Given the description of an element on the screen output the (x, y) to click on. 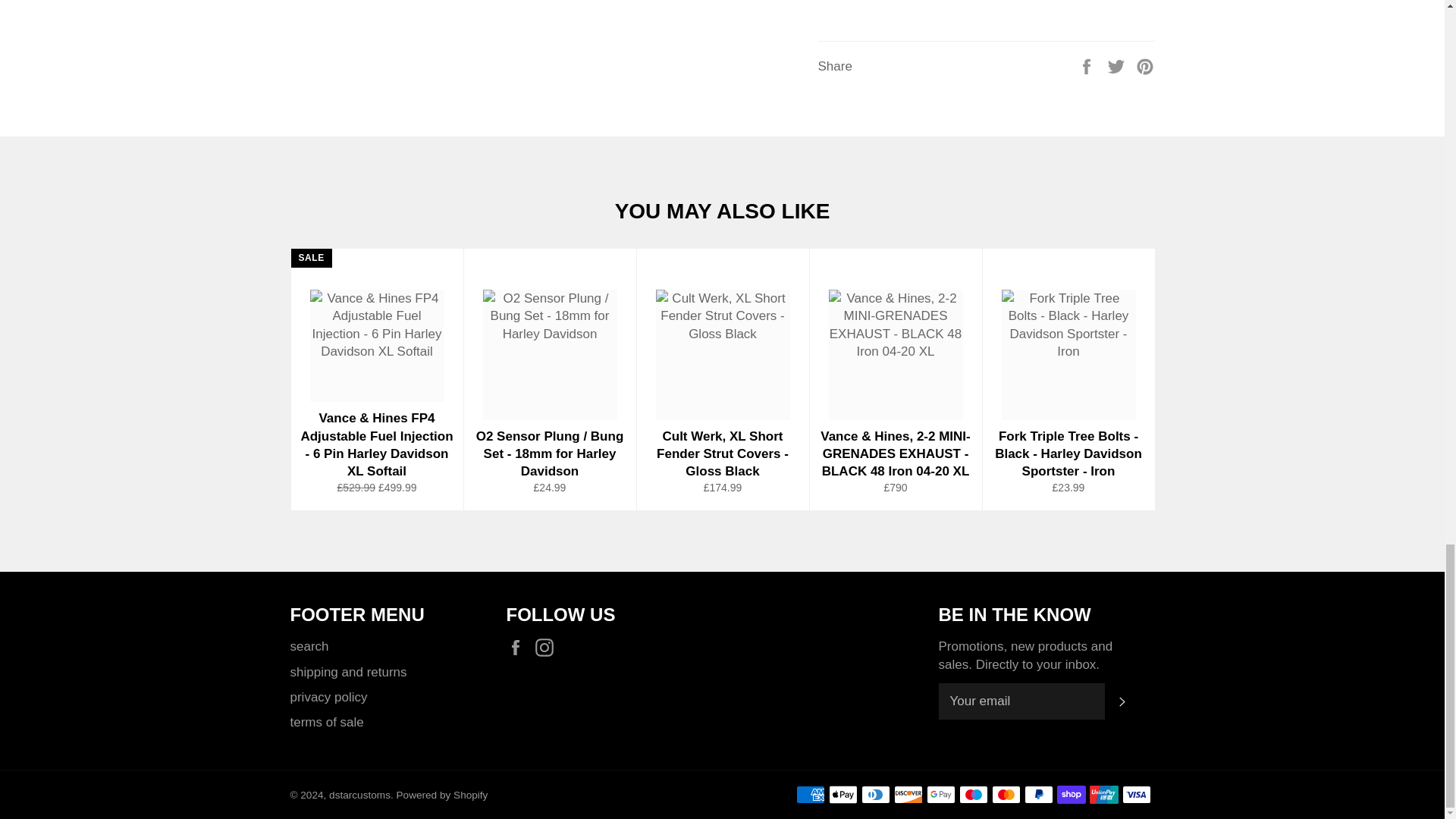
Tweet on Twitter (1117, 65)
Pin on Pinterest (1144, 65)
Share on Facebook (1088, 65)
dstarcustoms on Facebook (519, 647)
dstarcustoms on Instagram (547, 647)
